Given the description of an element on the screen output the (x, y) to click on. 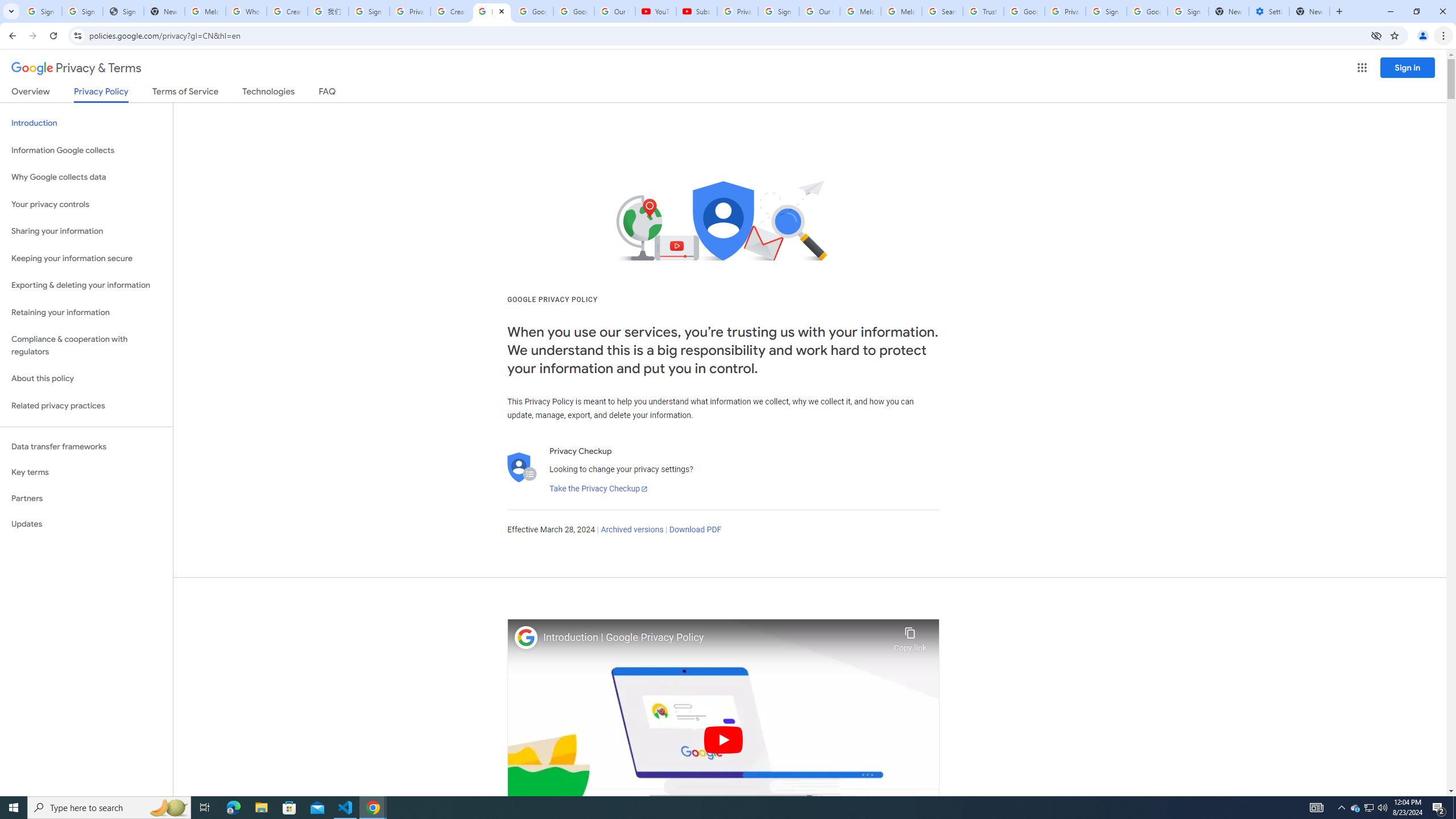
Terms of Service (184, 93)
Search our Doodle Library Collection - Google Doodles (942, 11)
Play (723, 739)
Google Account (573, 11)
Create your Google Account (287, 11)
Sign in - Google Accounts (777, 11)
Privacy & Terms (76, 68)
Sign in - Google Accounts (41, 11)
